Given the description of an element on the screen output the (x, y) to click on. 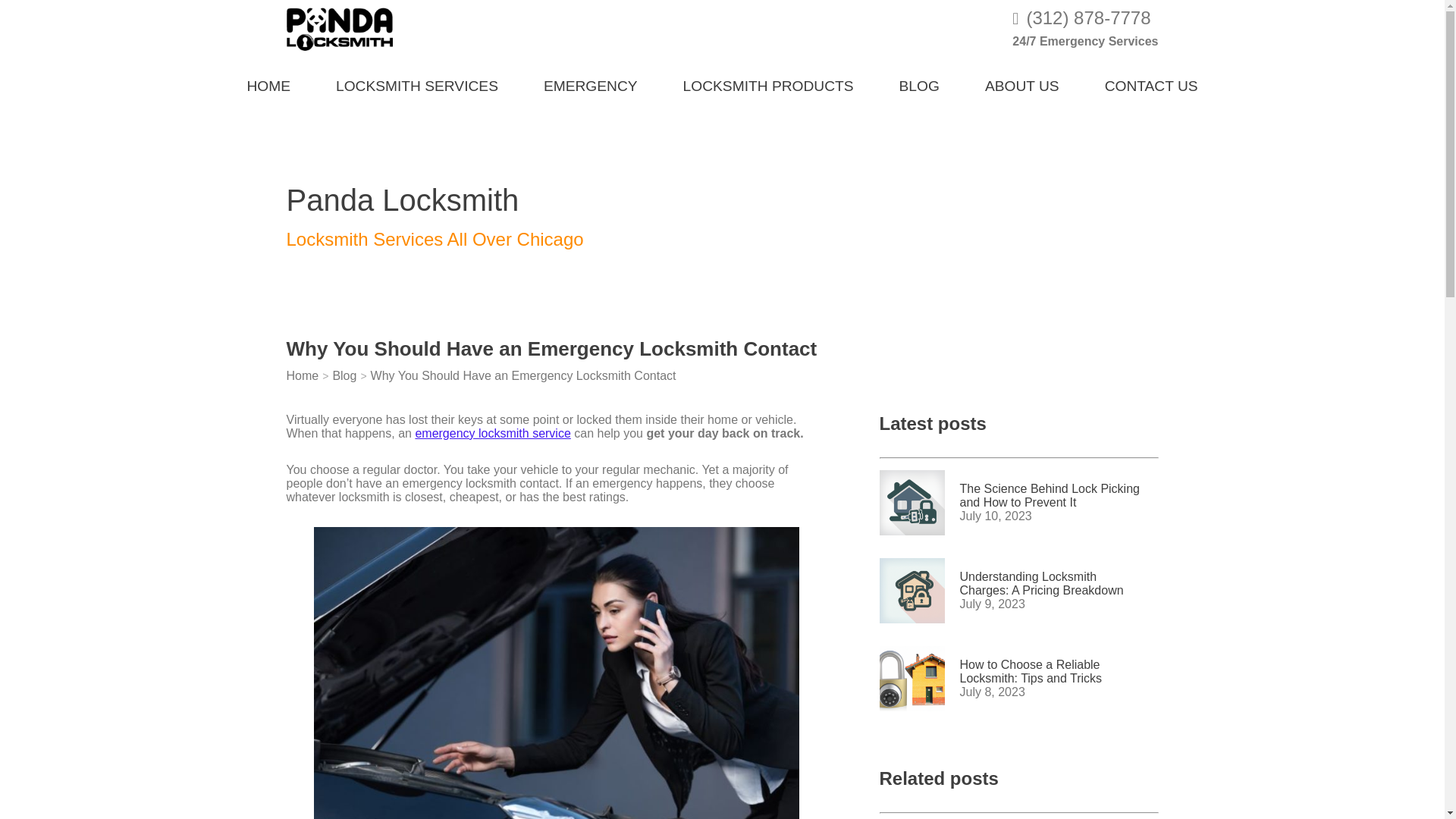
Locksmith Chicago (268, 83)
Home (302, 374)
LOCKSMITH PRODUCTS (768, 83)
LOCKSMITH SERVICES (417, 83)
Emergency Locksmith Chicago (591, 83)
ABOUT US (1021, 83)
Locksmith services in Chicago (417, 83)
HOME (268, 83)
EMERGENCY (591, 83)
Why You Should Have an Emergency Locksmith Contact (524, 374)
